Given the description of an element on the screen output the (x, y) to click on. 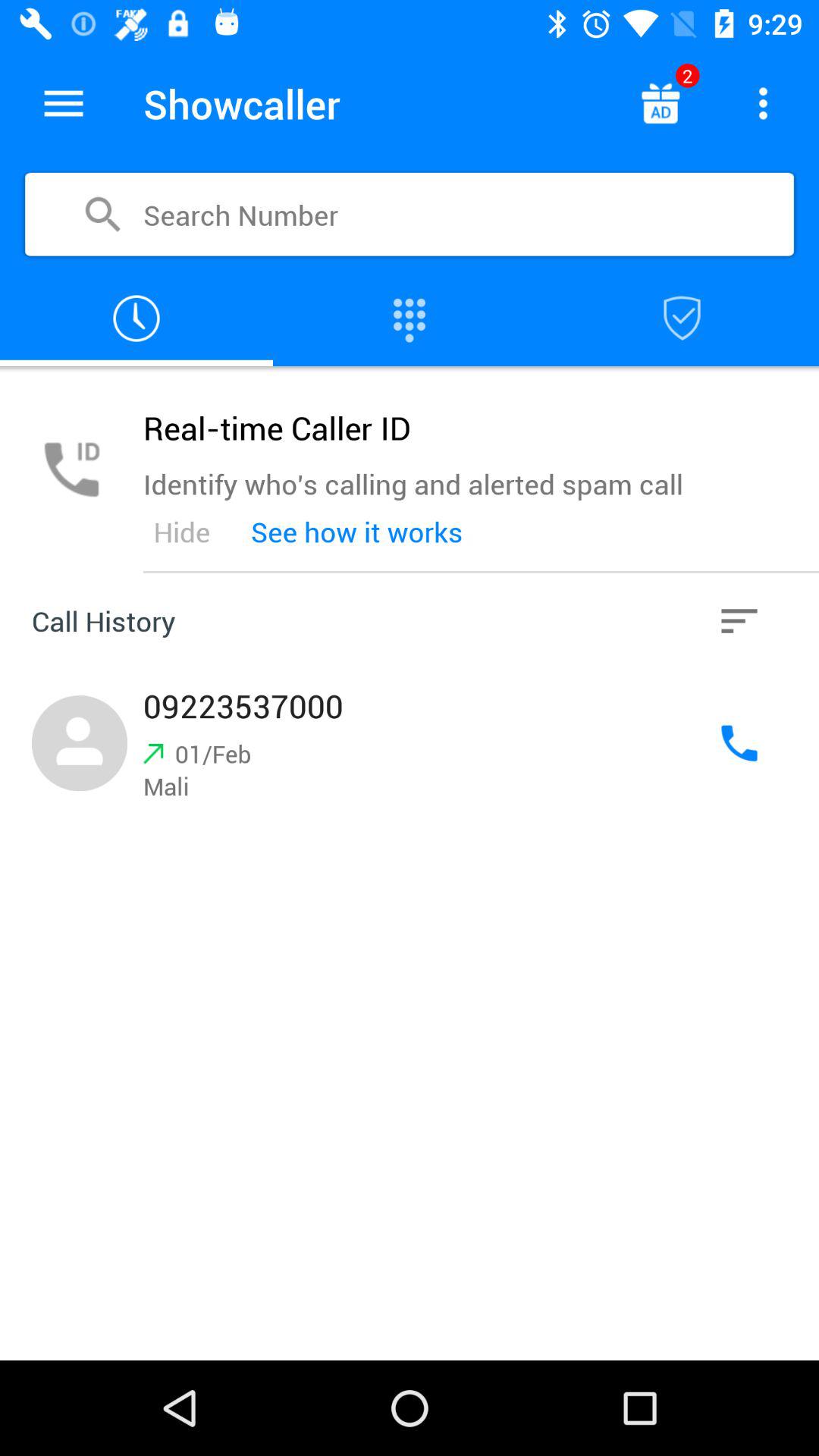
switch autoplay option (659, 103)
